Given the description of an element on the screen output the (x, y) to click on. 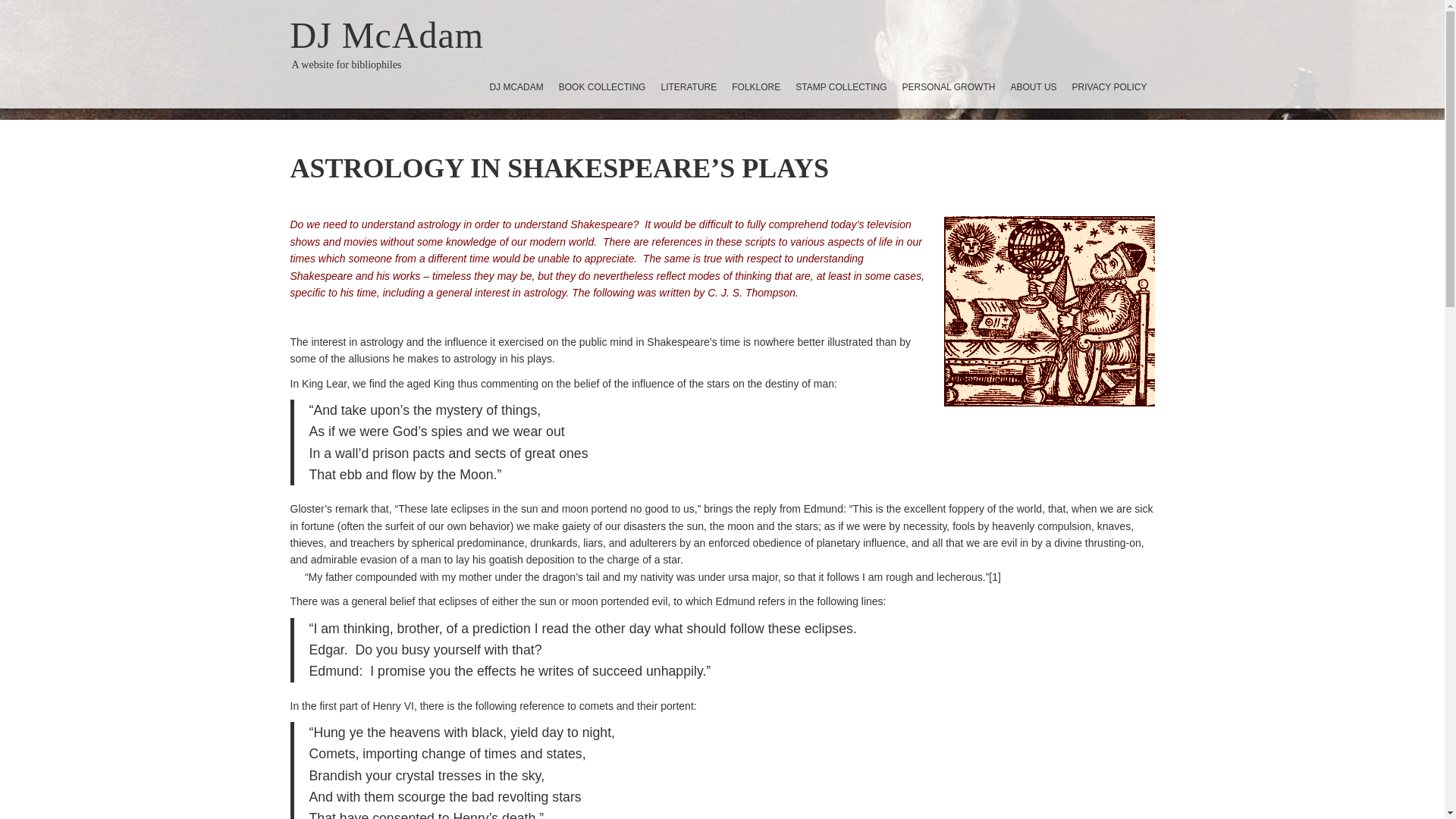
BOOK COLLECTING (602, 87)
LITERATURE (687, 87)
PRIVACY POLICY (1109, 87)
PERSONAL GROWTH (949, 87)
ABOUT US (1033, 87)
DJ McAdam (386, 35)
FOLKLORE (755, 87)
DJ MCADAM (515, 87)
STAMP COLLECTING (840, 87)
